Given the description of an element on the screen output the (x, y) to click on. 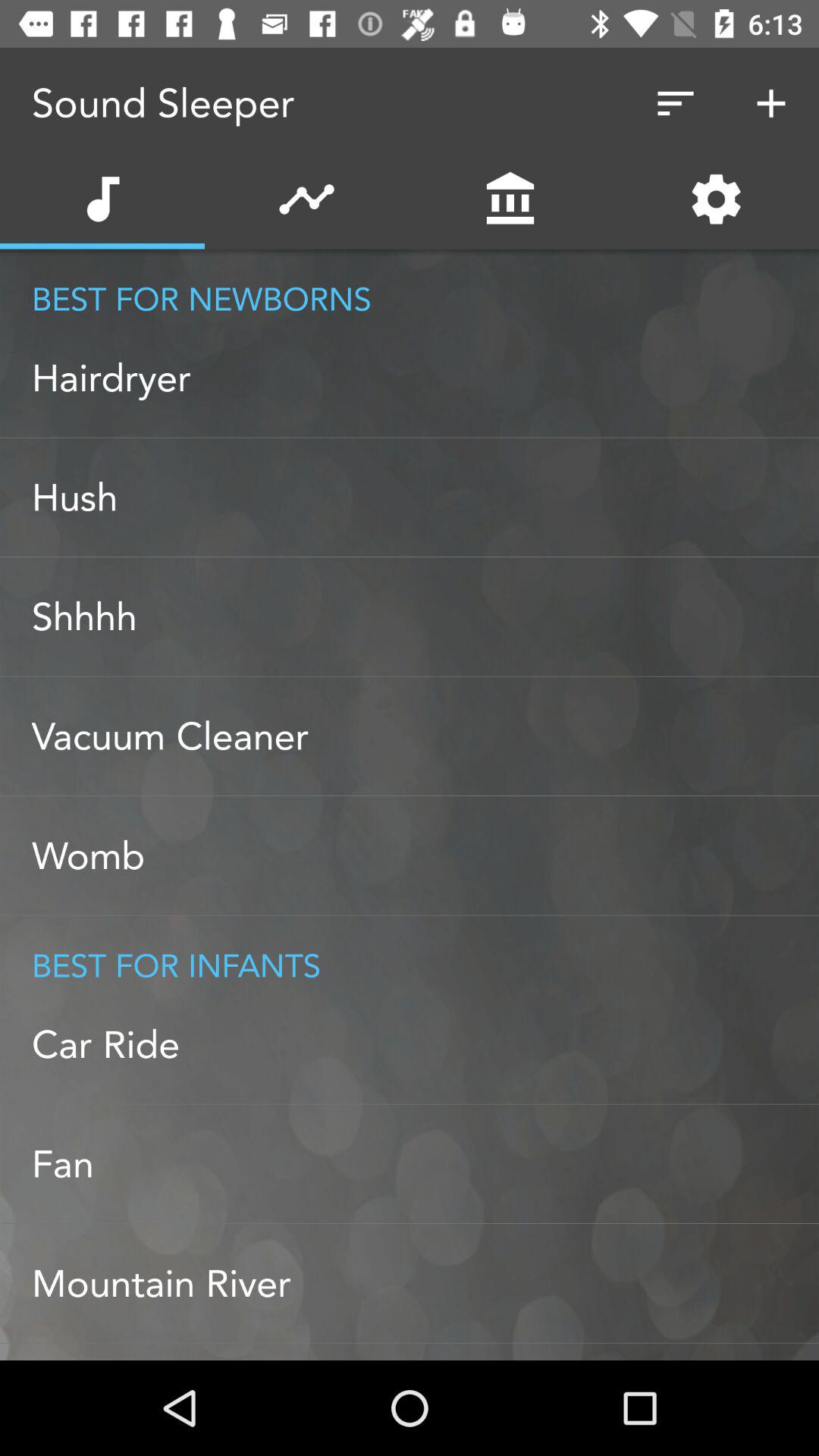
click hairdryer icon (425, 377)
